Given the description of an element on the screen output the (x, y) to click on. 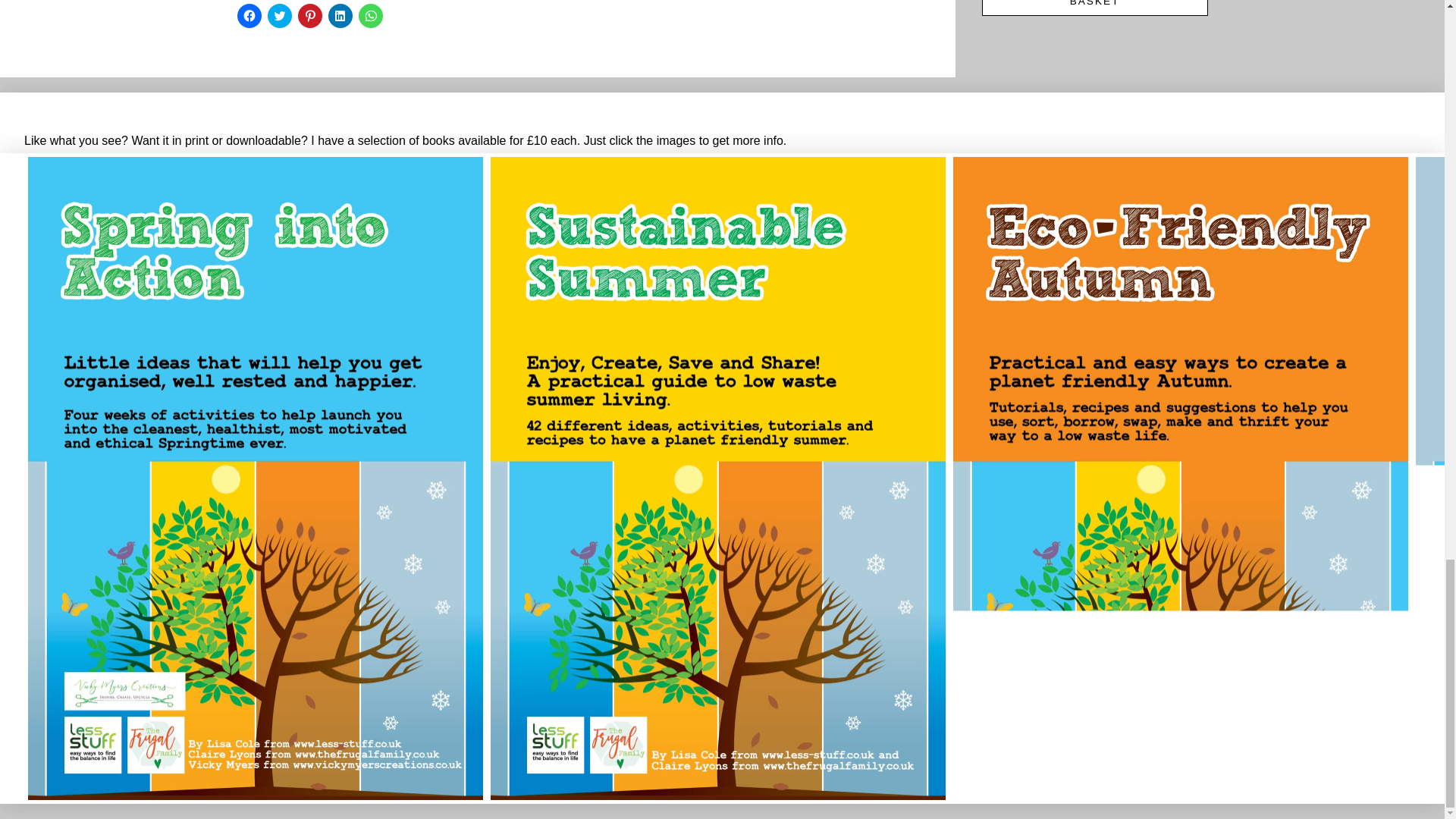
Click to share on WhatsApp (369, 15)
Click to share on Twitter (278, 15)
Click to share on Facebook (247, 15)
Click to share on LinkedIn (339, 15)
Click to share on Pinterest (309, 15)
